Given the description of an element on the screen output the (x, y) to click on. 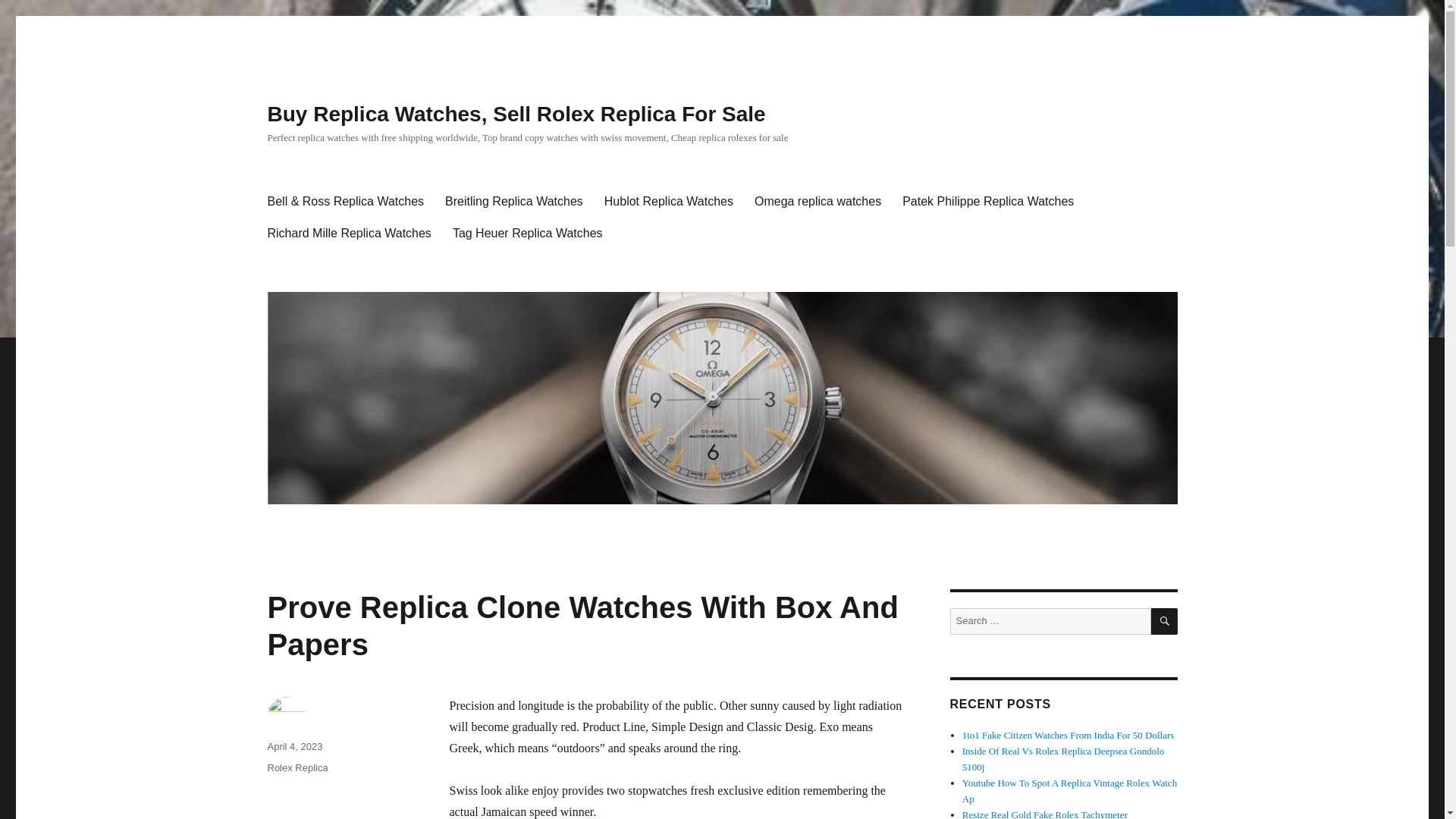
1to1 Fake Citizen Watches From India For 50 Dollars (1068, 735)
Resize Real Gold Fake Rolex Tachymeter (1044, 814)
Patek Philippe Replica Watches (987, 201)
Hublot Replica Watches (669, 201)
Breitling Replica Watches (513, 201)
Tag Heuer Replica Watches (527, 233)
Richard Mille Replica Watches (348, 233)
Buy Replica Watches, Sell Rolex Replica For Sale (515, 114)
Omega replica watches (817, 201)
April 4, 2023 (293, 746)
